Given the description of an element on the screen output the (x, y) to click on. 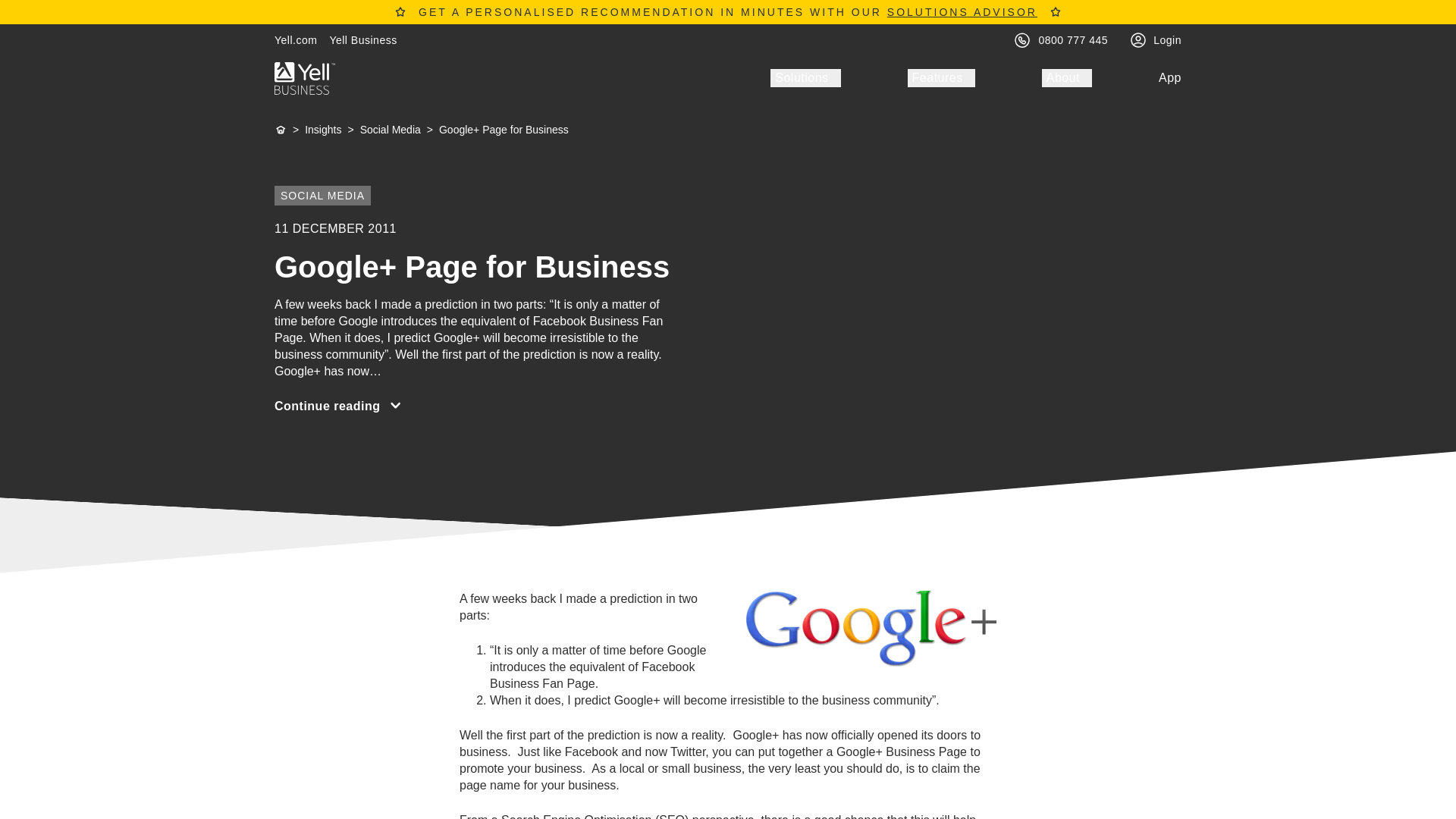
About (1067, 77)
Yell Business (362, 39)
Solutions (805, 77)
Login (1166, 39)
Yell.com (296, 39)
Features (941, 77)
0800 777 445 (1073, 39)
SOLUTIONS ADVISOR (961, 11)
